Given the description of an element on the screen output the (x, y) to click on. 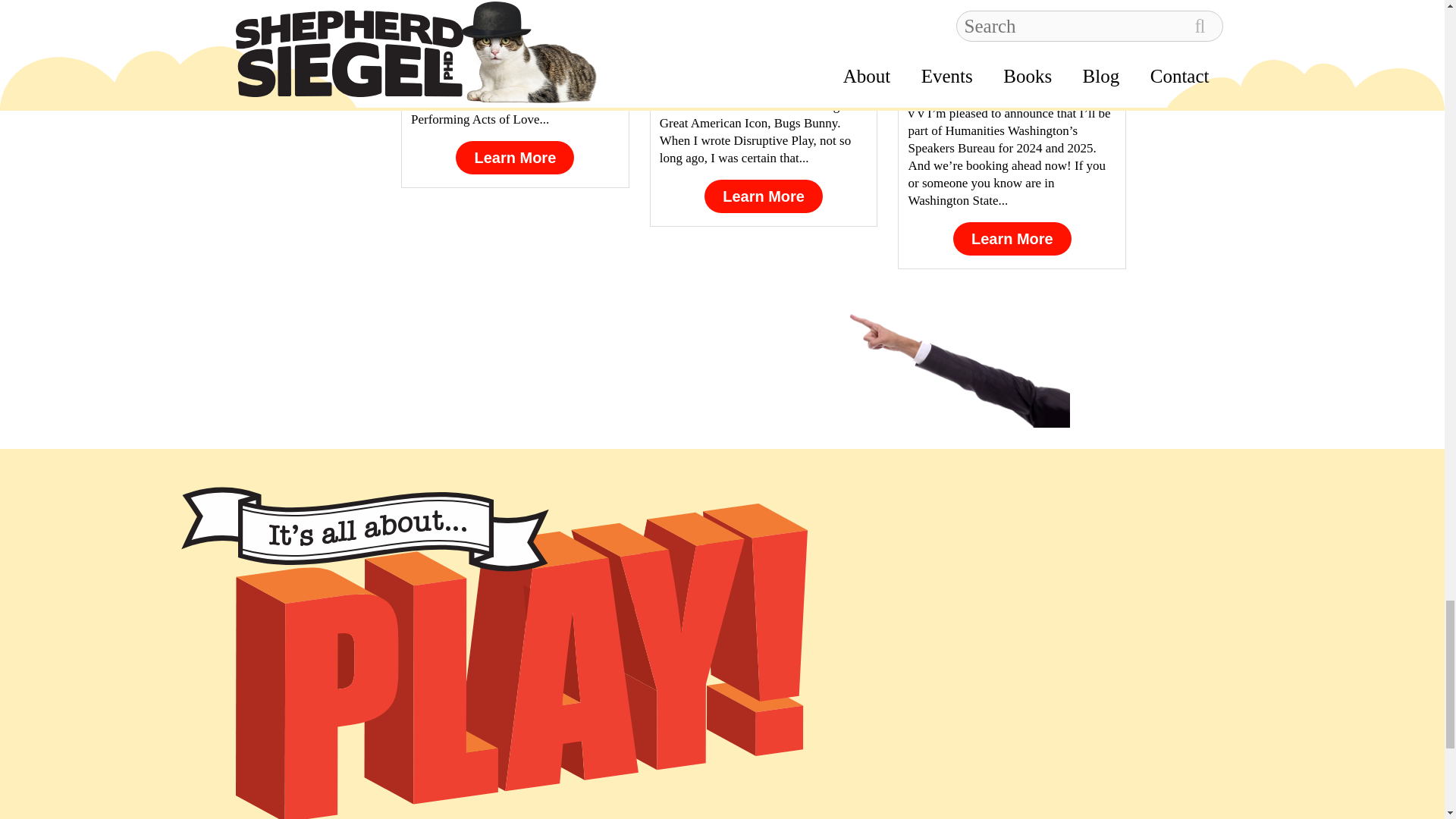
Learn More (763, 195)
Learn More (514, 157)
Learn More (1012, 238)
